Given the description of an element on the screen output the (x, y) to click on. 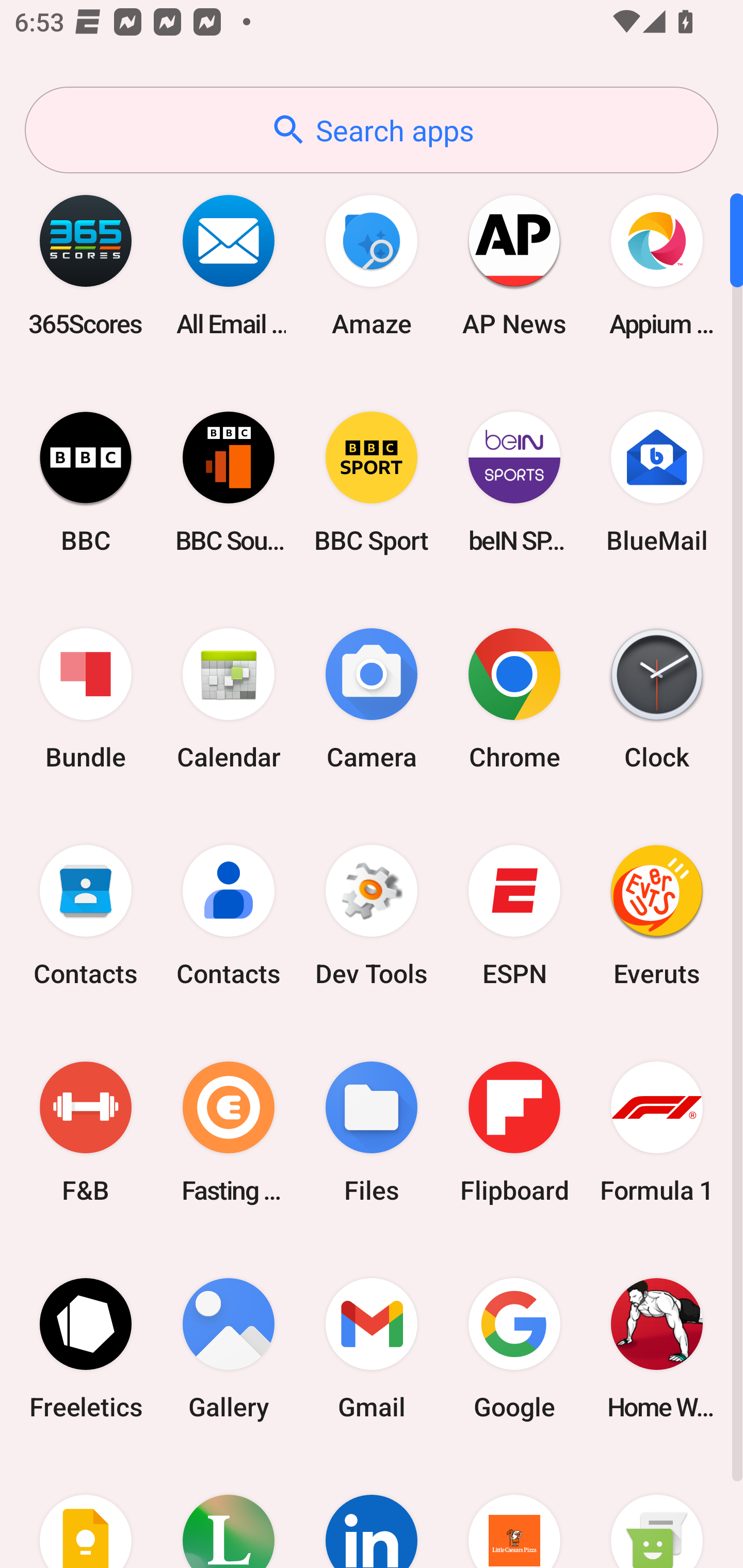
  Search apps (371, 130)
365Scores (85, 264)
All Email Connect (228, 264)
Amaze (371, 264)
AP News (514, 264)
Appium Settings (656, 264)
BBC (85, 482)
BBC Sounds (228, 482)
BBC Sport (371, 482)
beIN SPORTS (514, 482)
BlueMail (656, 482)
Bundle (85, 699)
Calendar (228, 699)
Camera (371, 699)
Chrome (514, 699)
Clock (656, 699)
Contacts (85, 915)
Contacts (228, 915)
Dev Tools (371, 915)
ESPN (514, 915)
Everuts (656, 915)
F&B (85, 1131)
Fasting Coach (228, 1131)
Files (371, 1131)
Flipboard (514, 1131)
Formula 1 (656, 1131)
Freeletics (85, 1348)
Gallery (228, 1348)
Gmail (371, 1348)
Google (514, 1348)
Home Workout (656, 1348)
